Given the description of an element on the screen output the (x, y) to click on. 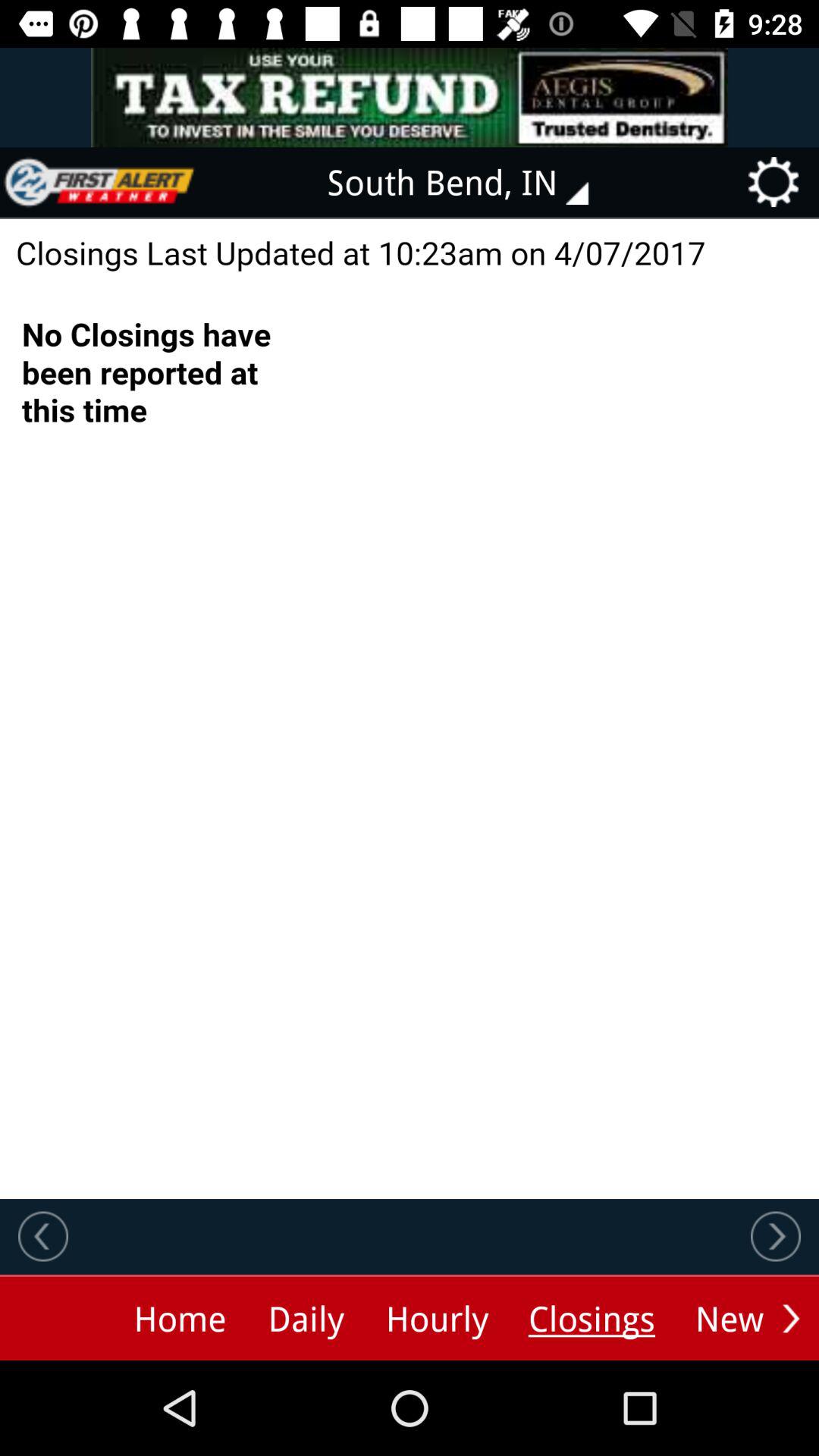
advertisement (409, 97)
